Given the description of an element on the screen output the (x, y) to click on. 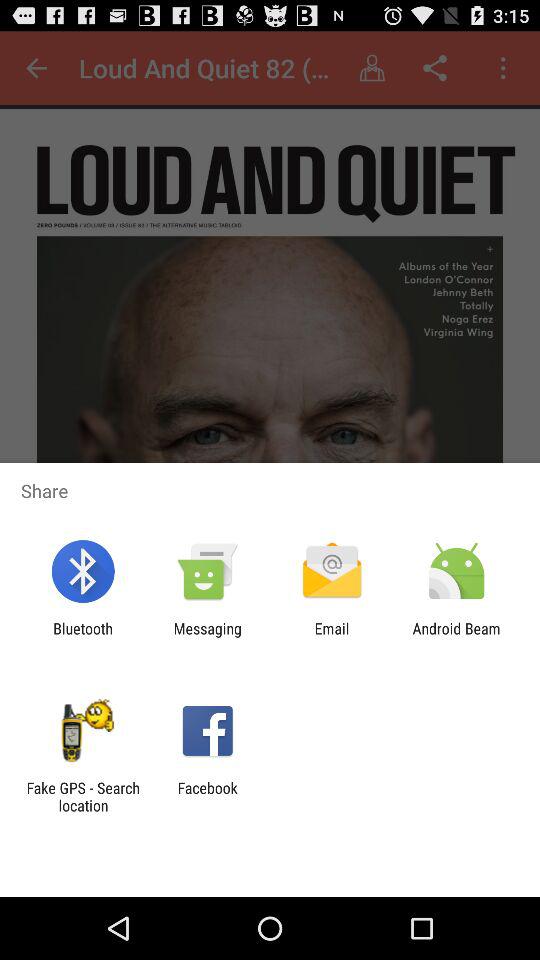
tap the messaging app (207, 637)
